Given the description of an element on the screen output the (x, y) to click on. 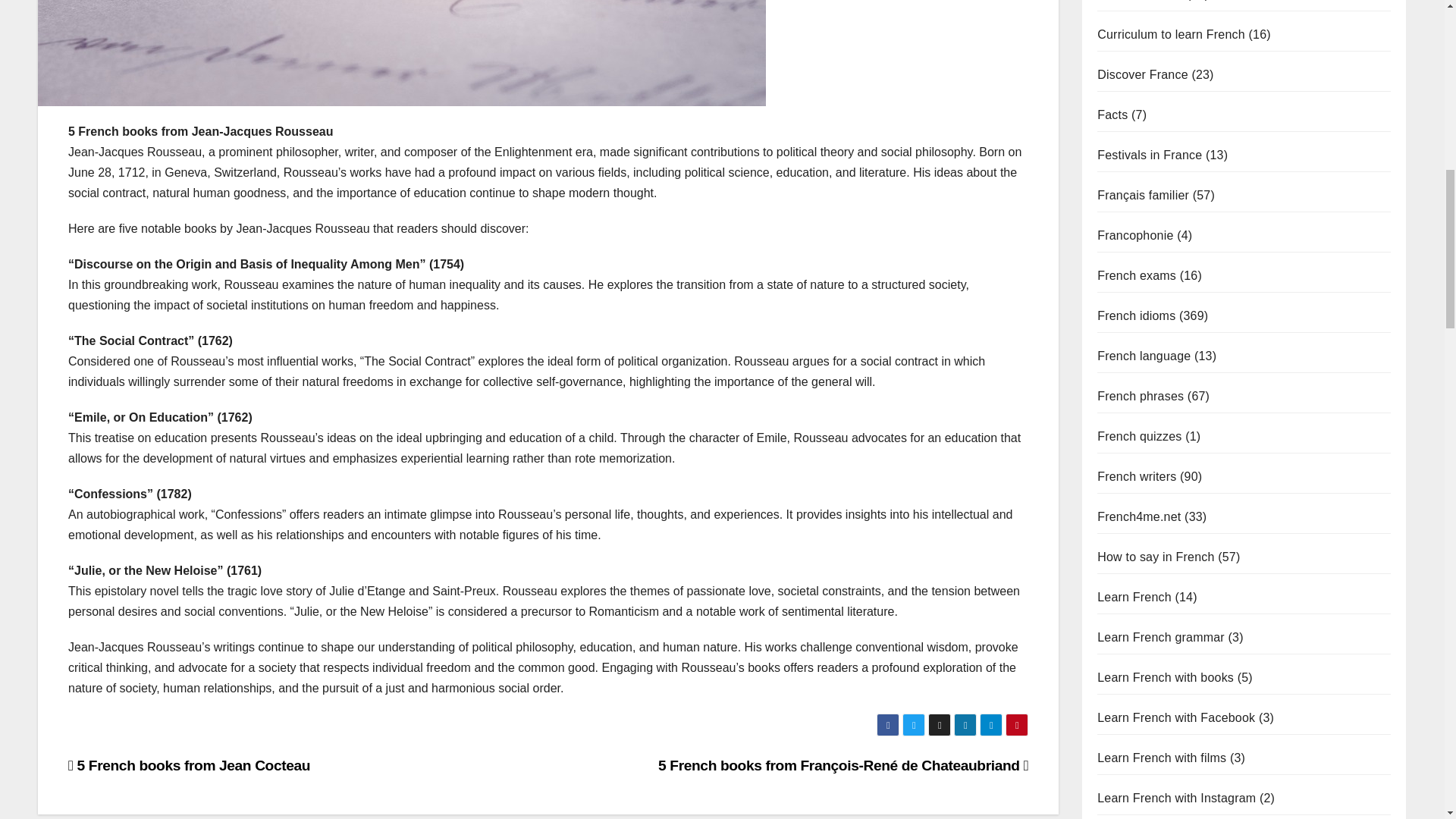
5 French books from Jean Cocteau (189, 765)
